Given the description of an element on the screen output the (x, y) to click on. 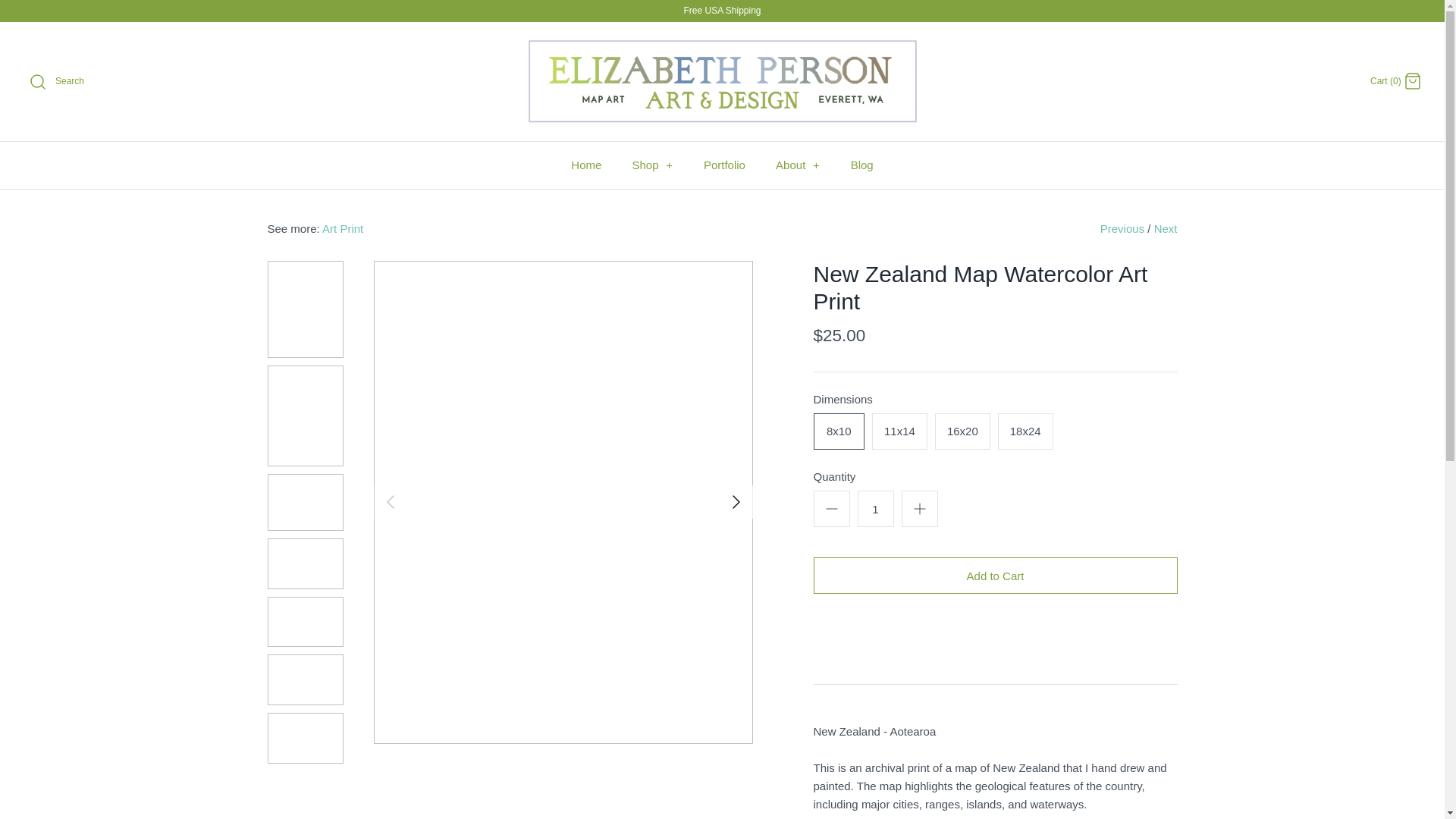
Plus (919, 508)
Add to Cart (994, 575)
Portfolio (724, 165)
Right (735, 501)
Home (585, 165)
Cart (1412, 81)
Left (389, 501)
Minus (831, 508)
1 (875, 508)
